Given the description of an element on the screen output the (x, y) to click on. 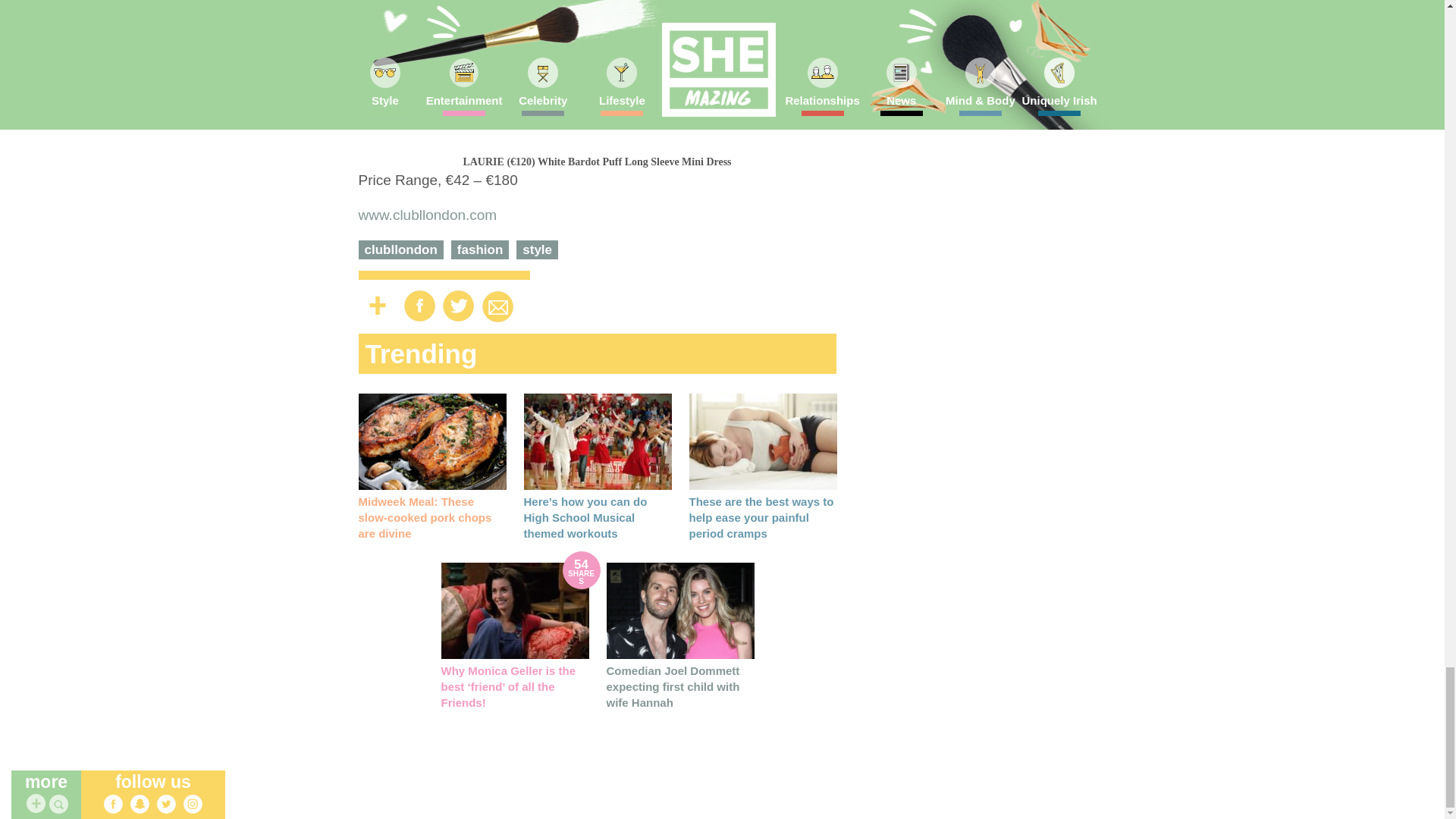
Comedian Joel Dommett expecting first child with wife Hannah (680, 610)
Midweek Meal: These slow-cooked pork chops are divine (431, 441)
Comedian Joel Dommett expecting first child with wife Hannah (673, 686)
Midweek Meal: These slow-cooked pork chops are divine (425, 517)
